Given the description of an element on the screen output the (x, y) to click on. 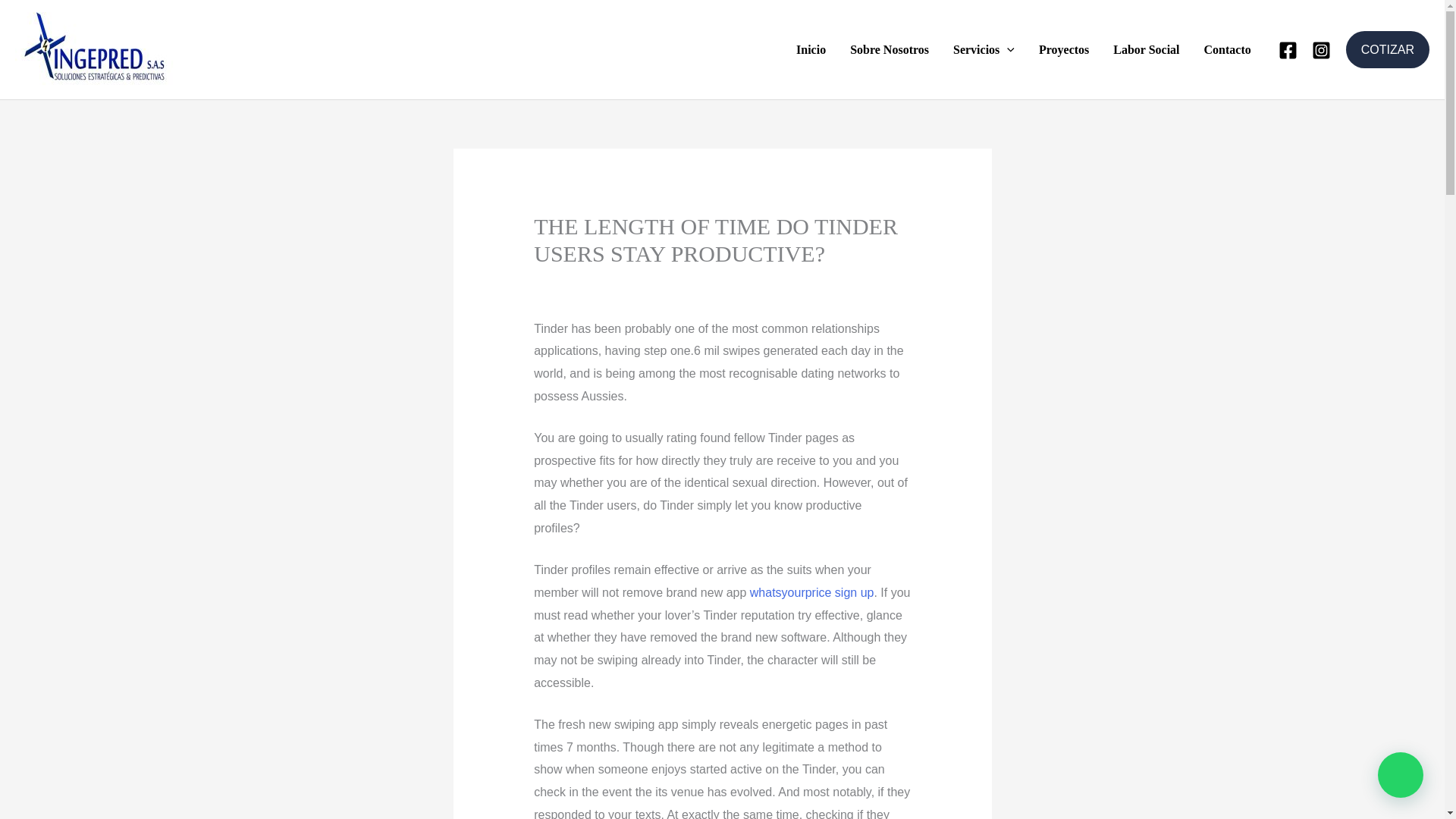
whatsyourprice sign up (812, 592)
whatsyourprice review (708, 283)
Servicios (983, 49)
admin (818, 283)
COTIZAR (1387, 49)
Proyectos (1063, 49)
Contacto (1227, 49)
Inicio (811, 49)
Labor Social (1145, 49)
Ver todas las entradas de admin (818, 283)
